Given the description of an element on the screen output the (x, y) to click on. 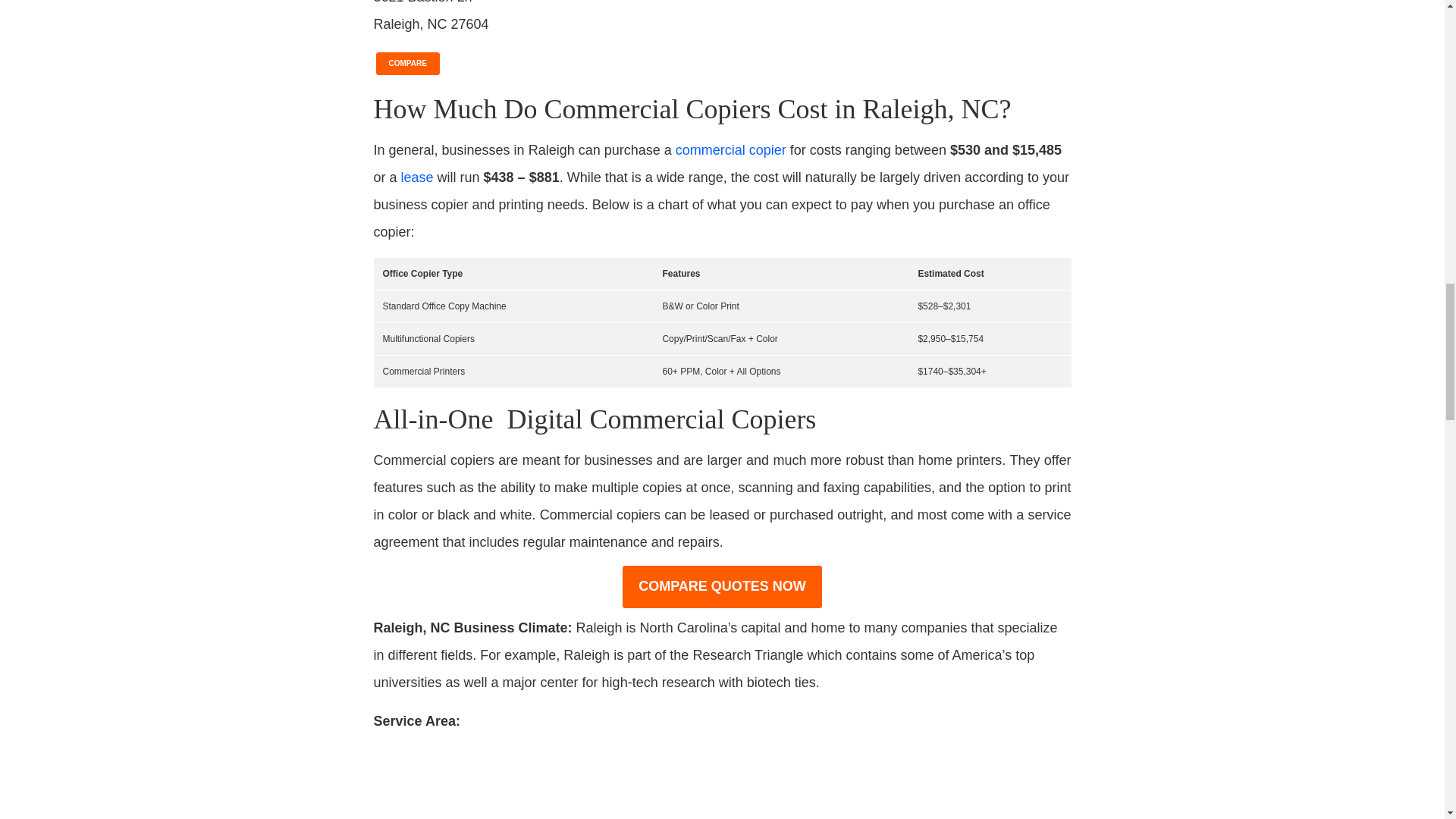
commercial copier (730, 150)
COMPARE (407, 61)
COMPARE QUOTES NOW (722, 586)
COMPARE (407, 61)
lease (417, 177)
COMPARE QUOTES NOW (722, 586)
